Given the description of an element on the screen output the (x, y) to click on. 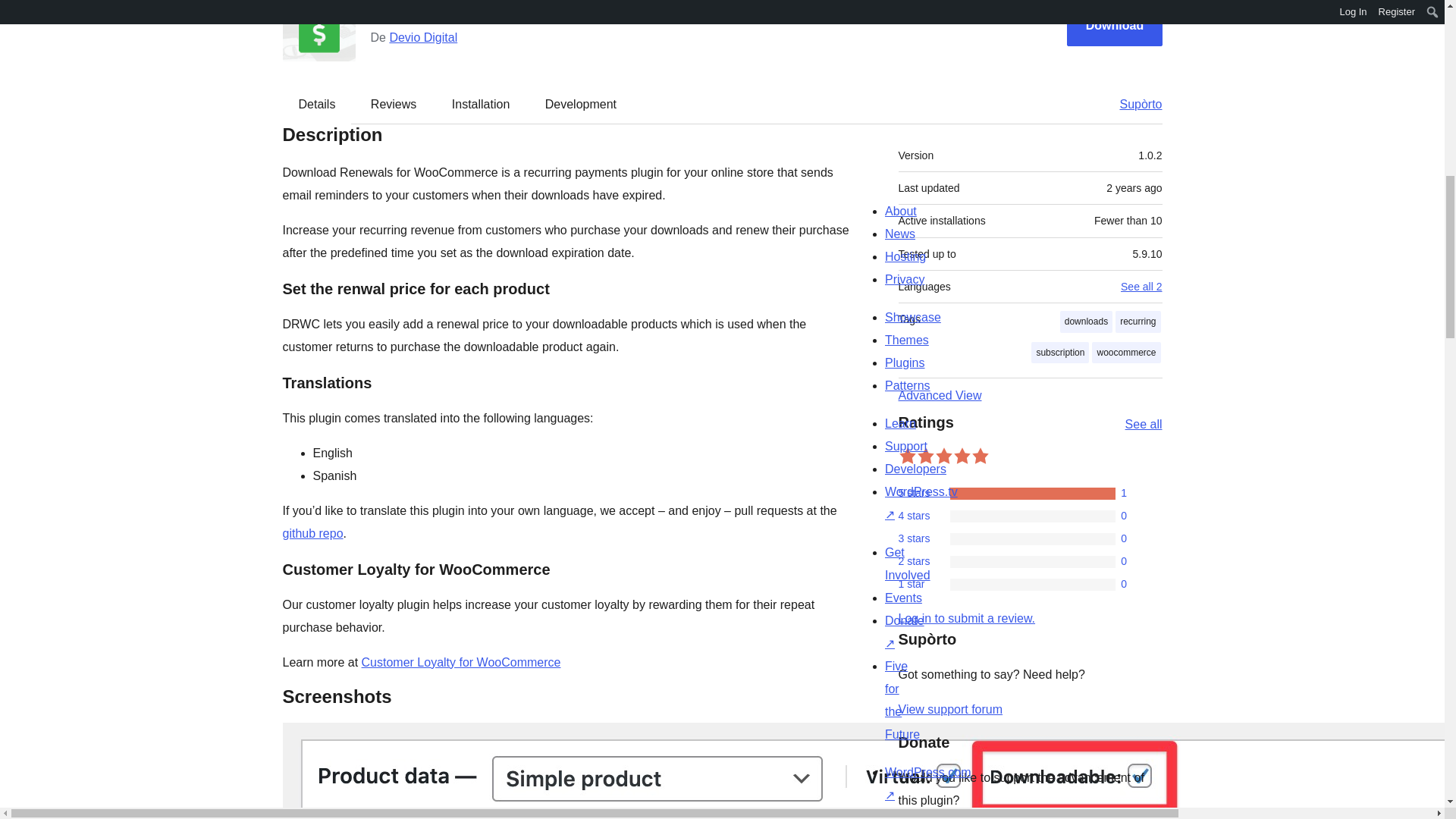
Details (316, 103)
github repo (312, 533)
Devio Digital (422, 37)
Development (580, 103)
Download (1114, 24)
Log in to WordPress.org (966, 617)
Reviews (392, 103)
Customer Loyalty for WooCommerce (460, 662)
Installation (480, 103)
